Given the description of an element on the screen output the (x, y) to click on. 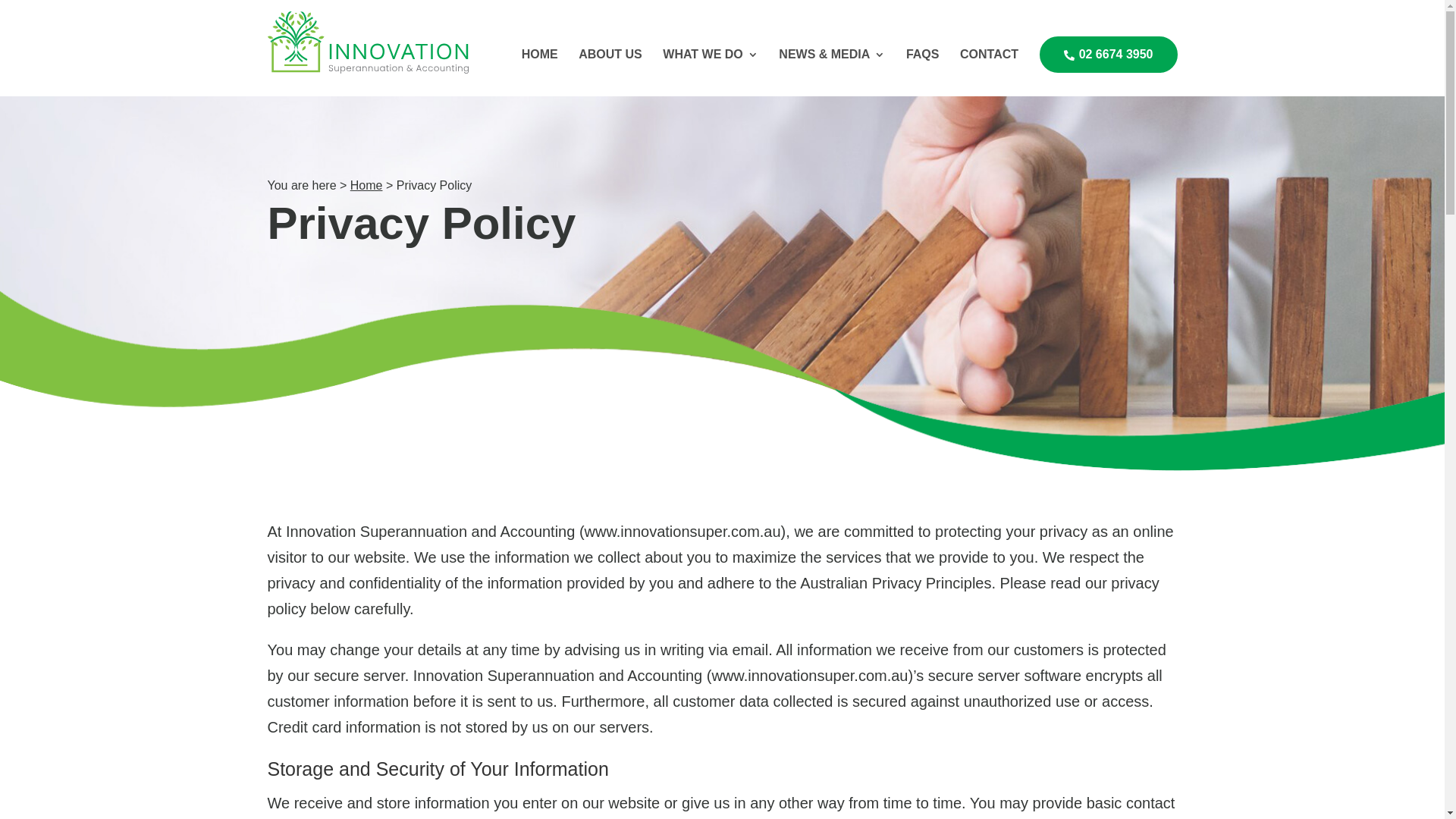
CONTACT Element type: text (989, 66)
HOME Element type: text (539, 66)
FAQS Element type: text (922, 66)
ABOUT US Element type: text (610, 66)
WHAT WE DO Element type: text (709, 66)
02 6674 3950 Element type: text (1108, 54)
Home Element type: text (366, 184)
NEWS & MEDIA Element type: text (831, 66)
